Given the description of an element on the screen output the (x, y) to click on. 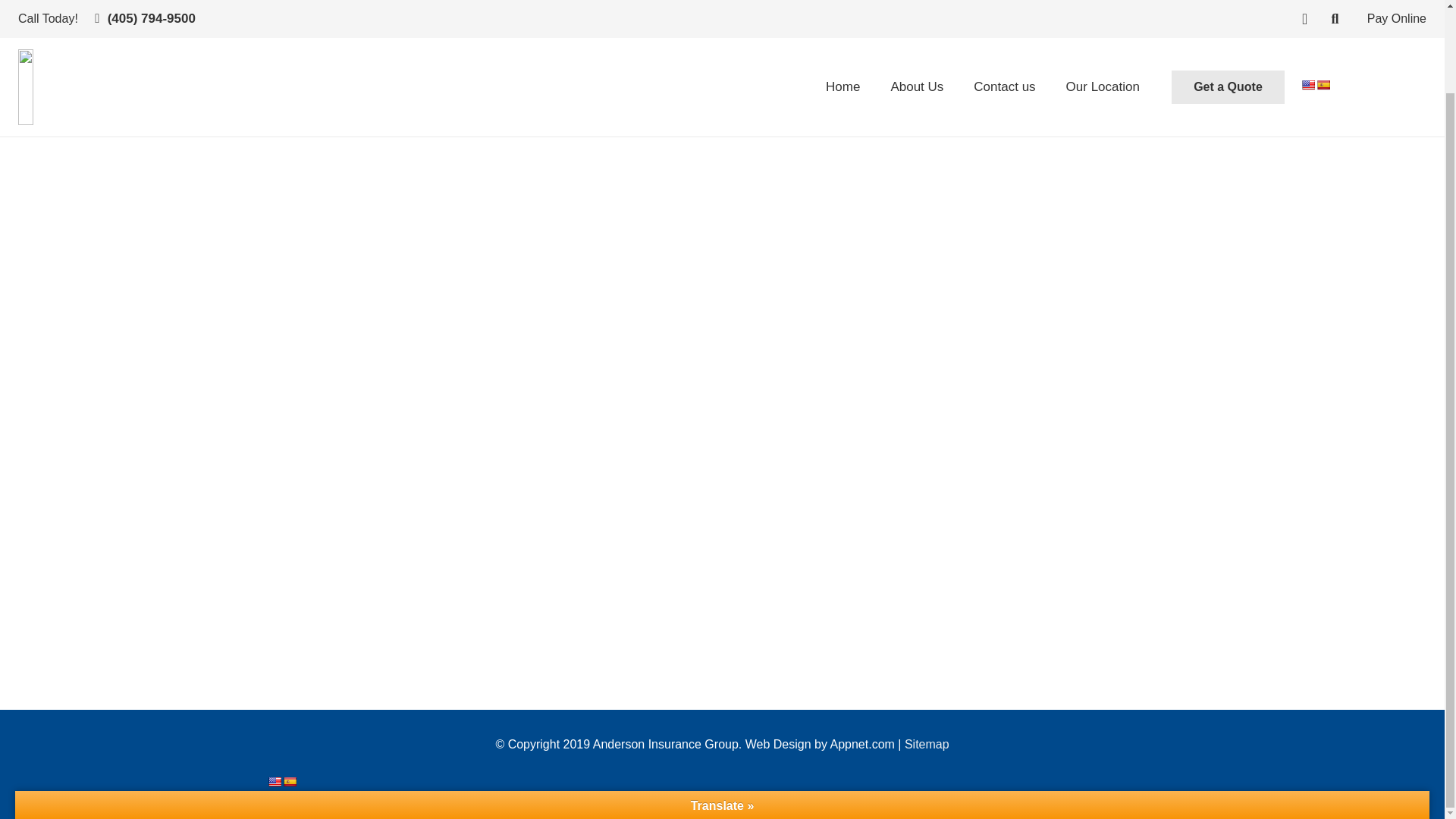
English (273, 781)
Our Location (1102, 21)
Get a Quote (1228, 5)
Contact us (1003, 21)
About Us (916, 21)
Home (842, 21)
Sitemap (926, 744)
Spanish (288, 781)
